Given the description of an element on the screen output the (x, y) to click on. 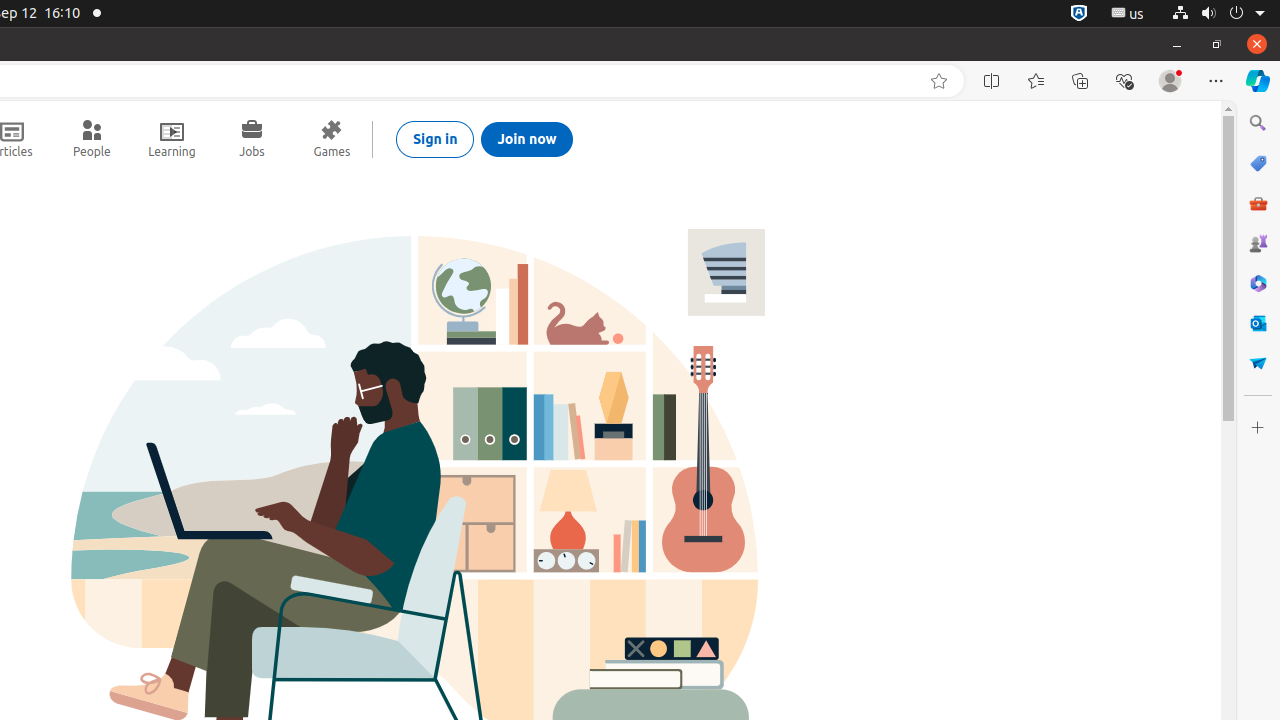
Split screen Element type: push-button (992, 81)
Browser essentials Element type: push-button (1124, 81)
Tools Element type: push-button (1258, 202)
Search Element type: push-button (1258, 123)
System Element type: menu (1218, 13)
